Given the description of an element on the screen output the (x, y) to click on. 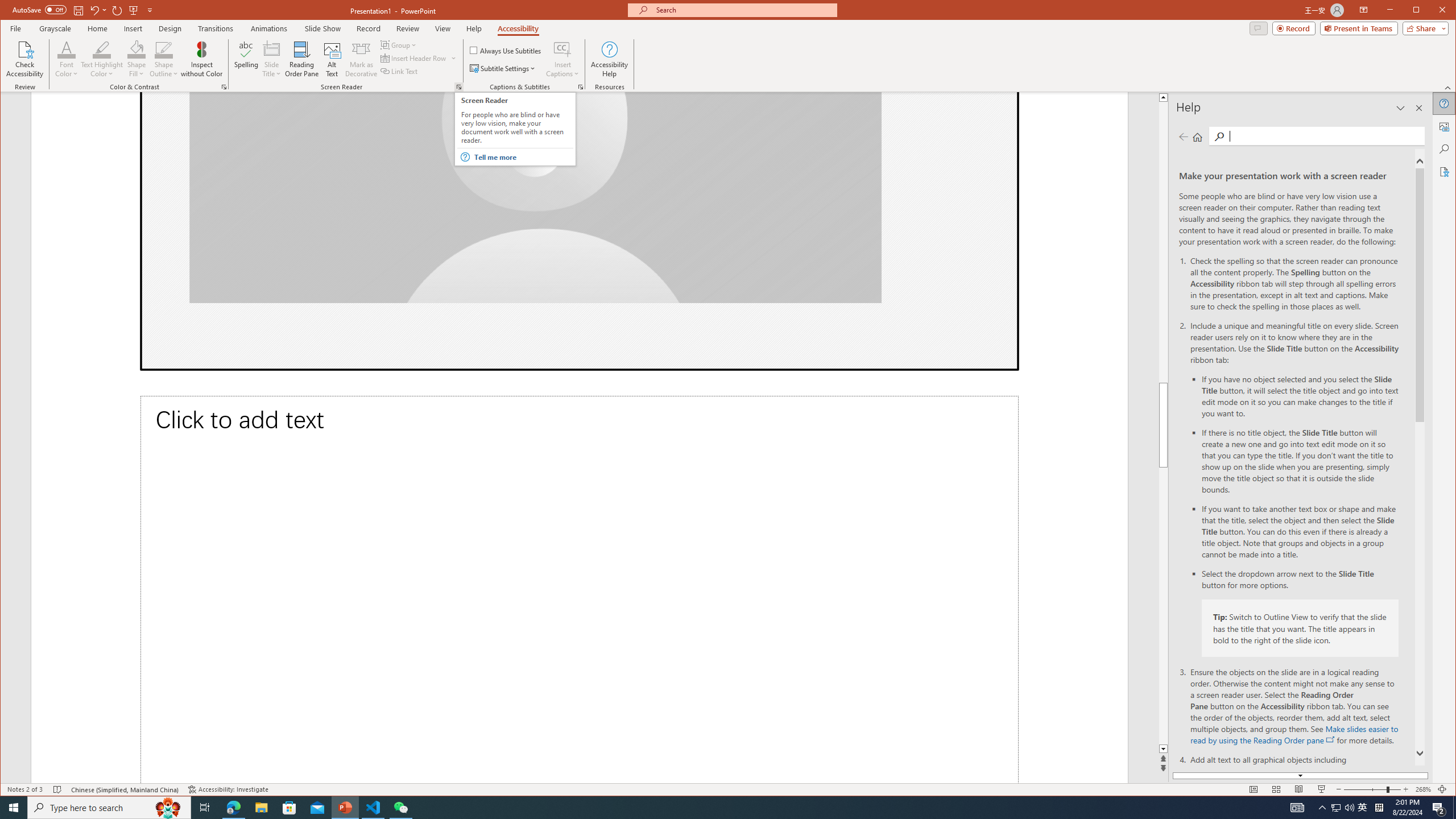
Maximize (1432, 11)
Zoom 268% (1422, 789)
Alt Text (331, 59)
Slide Title (271, 59)
Screen Reader (458, 86)
Action Center, 2 new notifications (1439, 807)
Search highlights icon opens search home window (167, 807)
Slide Notes (579, 588)
